Given the description of an element on the screen output the (x, y) to click on. 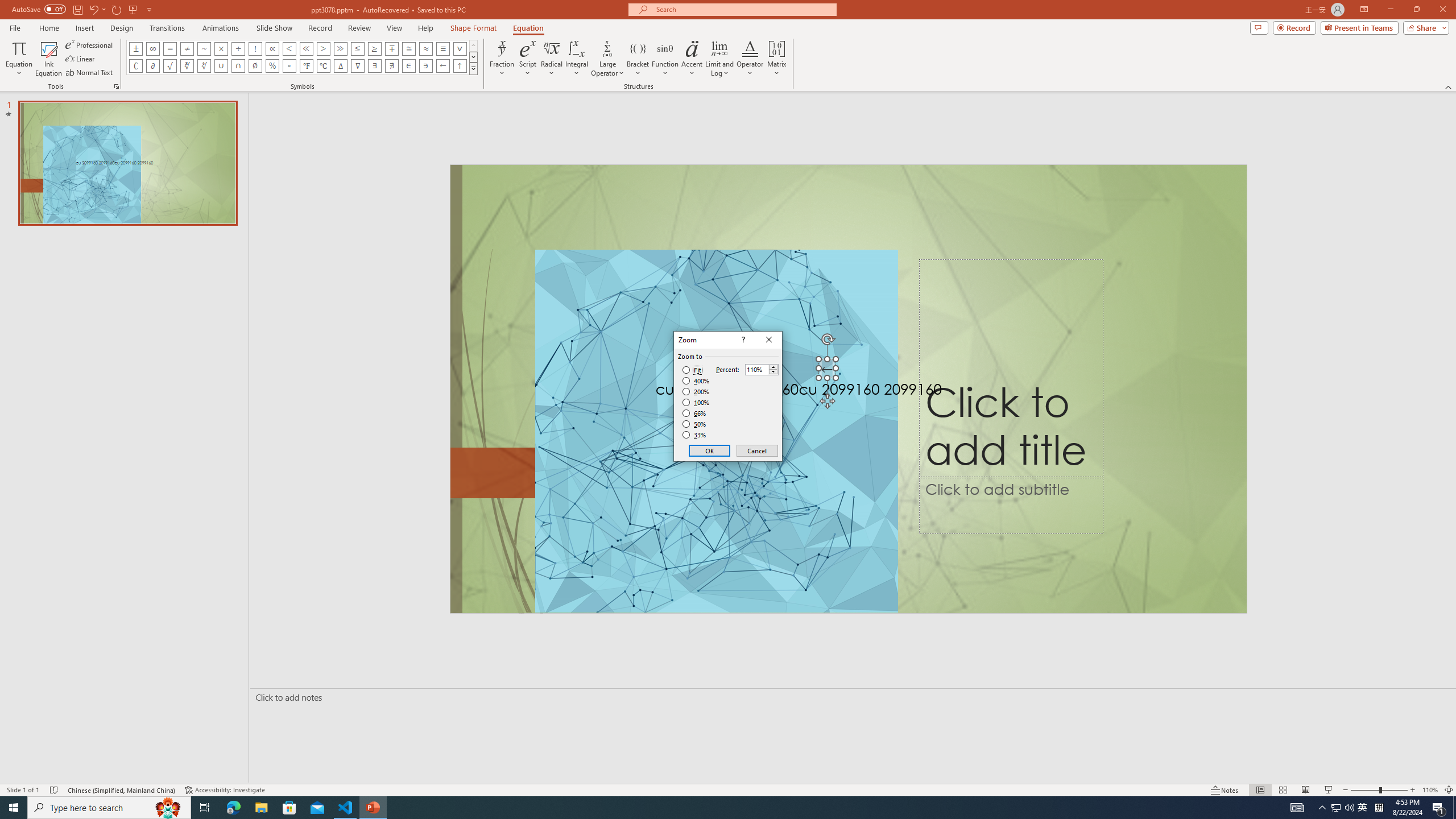
Integral (576, 58)
Percent (756, 369)
Equation Symbol Not Equal To (187, 48)
Equation Symbol Degrees Fahrenheit (306, 65)
Equation Symbol Infinity (152, 48)
AutomationID: EquationSymbolsInsertGallery (302, 57)
Equation Symbol Left Arrow (442, 65)
